Given the description of an element on the screen output the (x, y) to click on. 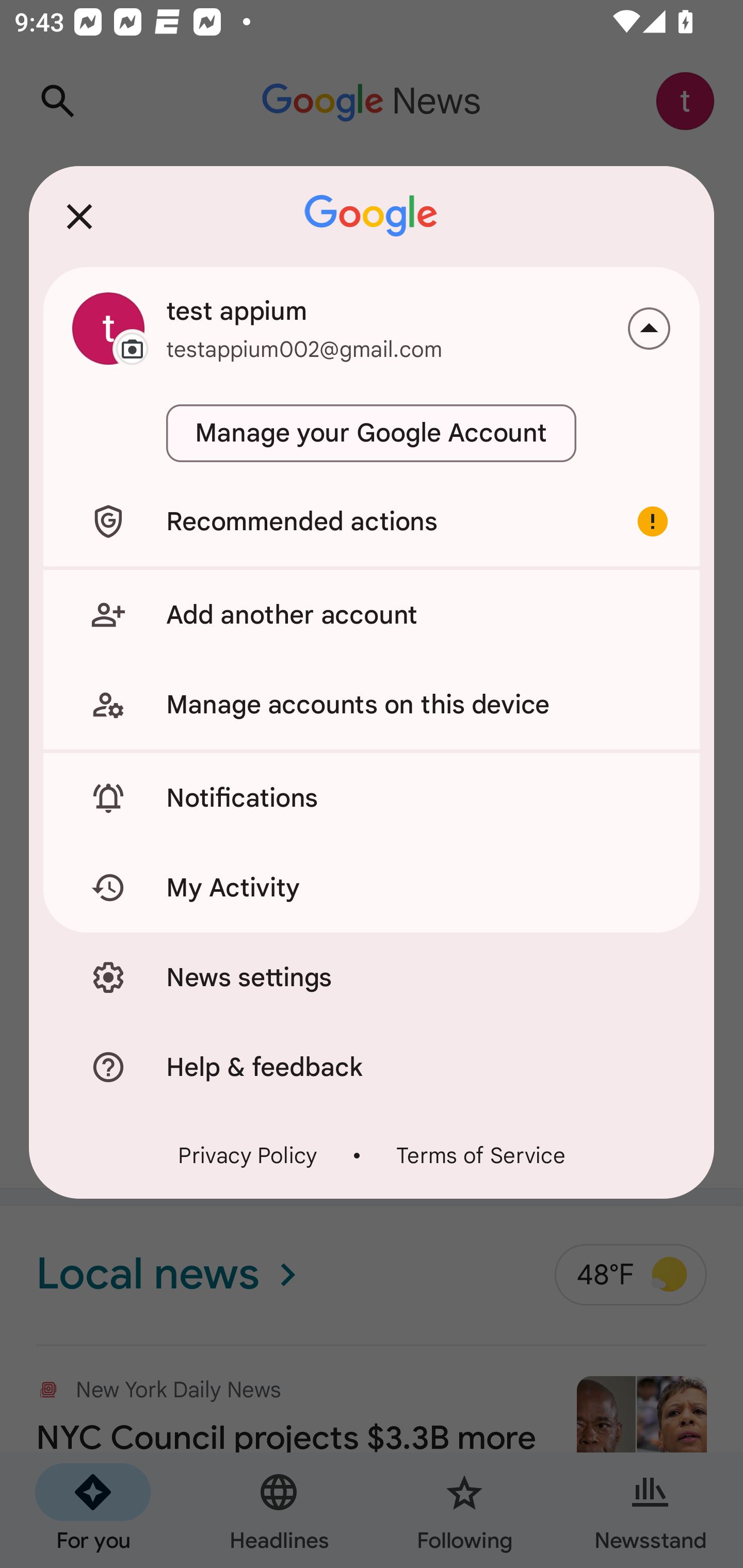
Close (79, 216)
Change profile picture. (108, 328)
Manage your Google Account (371, 433)
Recommended actions Important account alert (371, 521)
Add another account (371, 614)
Manage accounts on this device (371, 704)
Notifications (371, 797)
My Activity (371, 887)
News settings (371, 977)
Help & feedback (371, 1066)
Privacy Policy (247, 1154)
Terms of Service (479, 1154)
